Given the description of an element on the screen output the (x, y) to click on. 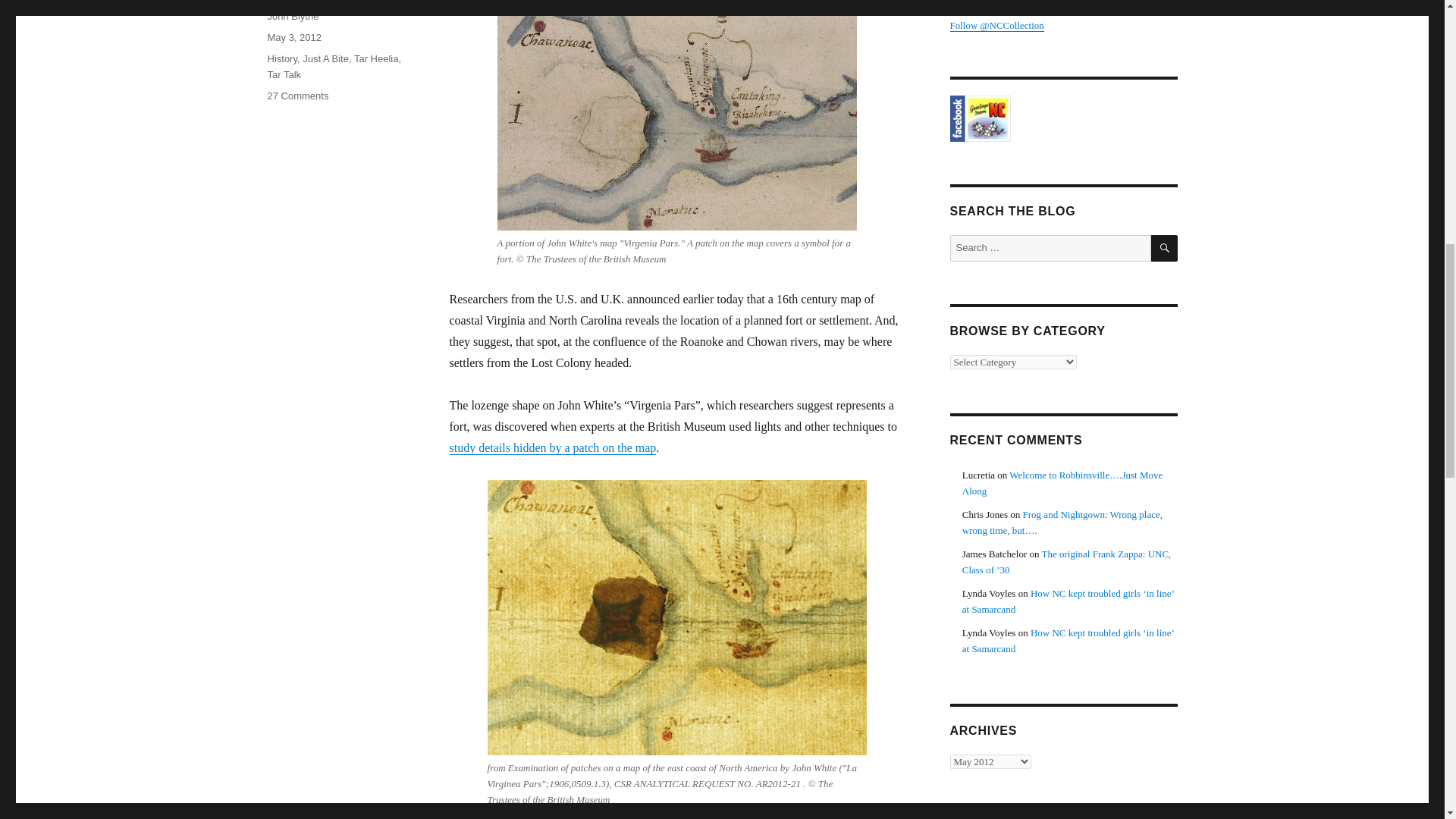
John Blythe (292, 16)
Just A Bite (325, 58)
North Carolina Collection, Wilson Library, UNC-Chapel Hill (1062, 118)
study details hidden by a patch on the map (552, 447)
History (281, 58)
Tar Heelia (375, 58)
Tar Talk (283, 74)
May 3, 2012 (293, 37)
